Given the description of an element on the screen output the (x, y) to click on. 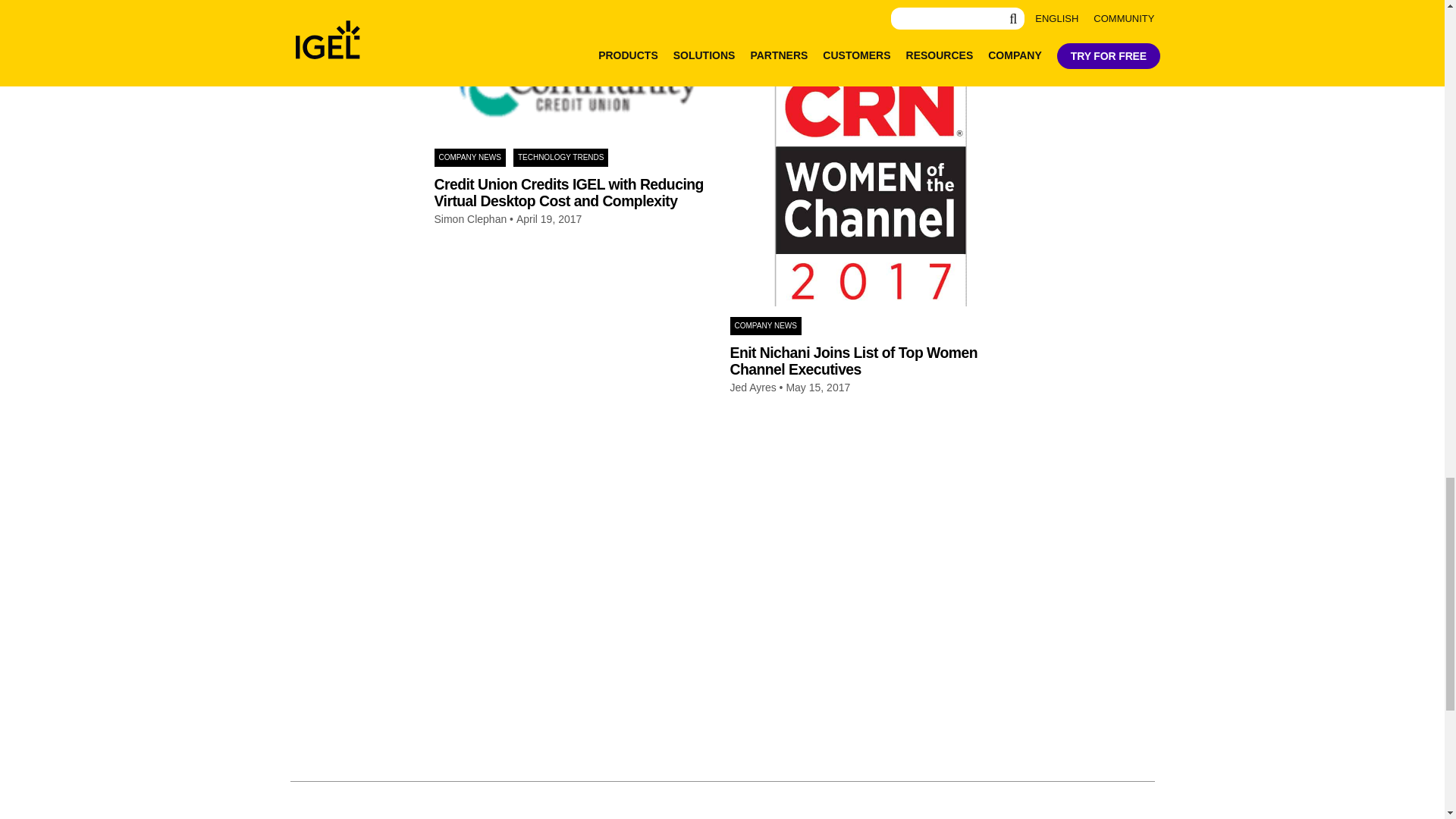
Enit Nichani Joins List of Top Women Channel Executives (869, 165)
Posts by Jed Ayres (752, 387)
Posts by Simon Clephan (469, 219)
